Given the description of an element on the screen output the (x, y) to click on. 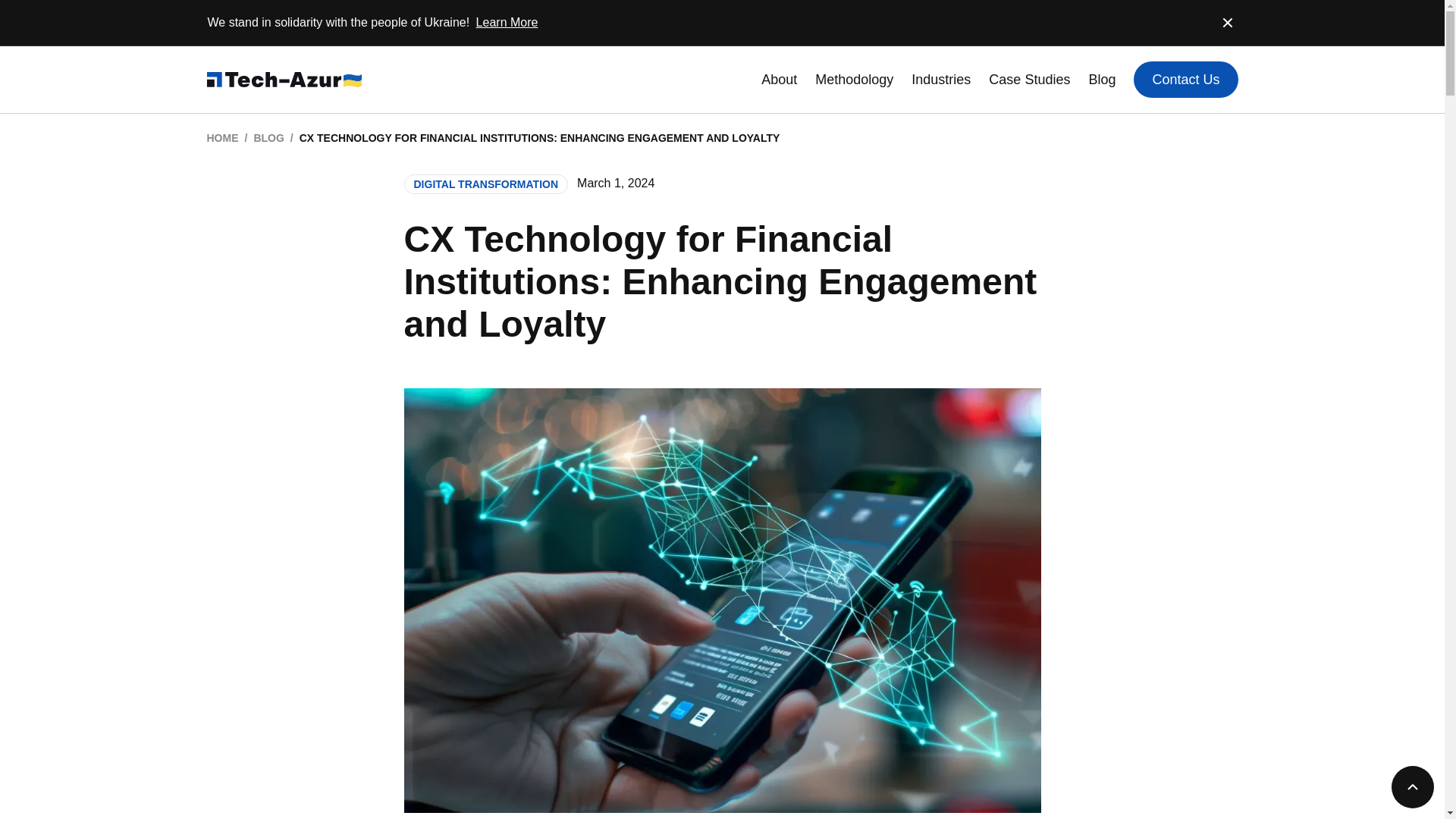
Contact Us (1185, 79)
Blog (1101, 79)
About (778, 79)
Case Studies (1029, 79)
Methodology (854, 79)
BLOG (268, 137)
Learn More (507, 21)
DIGITAL TRANSFORMATION (485, 184)
HOME (222, 137)
Industries (941, 79)
